Given the description of an element on the screen output the (x, y) to click on. 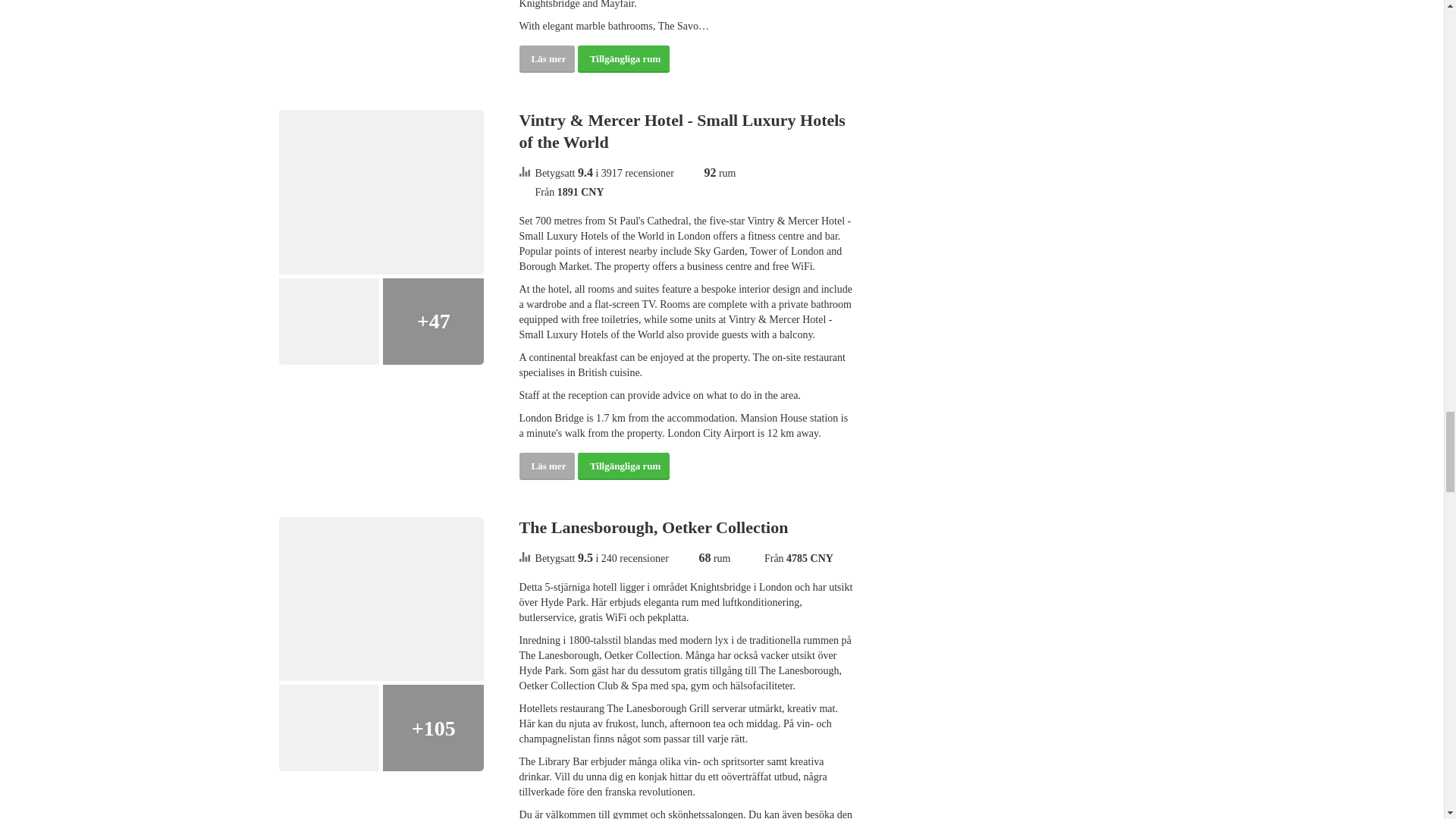
514 GBP (809, 558)
CNY (592, 192)
CNY (821, 558)
203 GBP (580, 192)
